Given the description of an element on the screen output the (x, y) to click on. 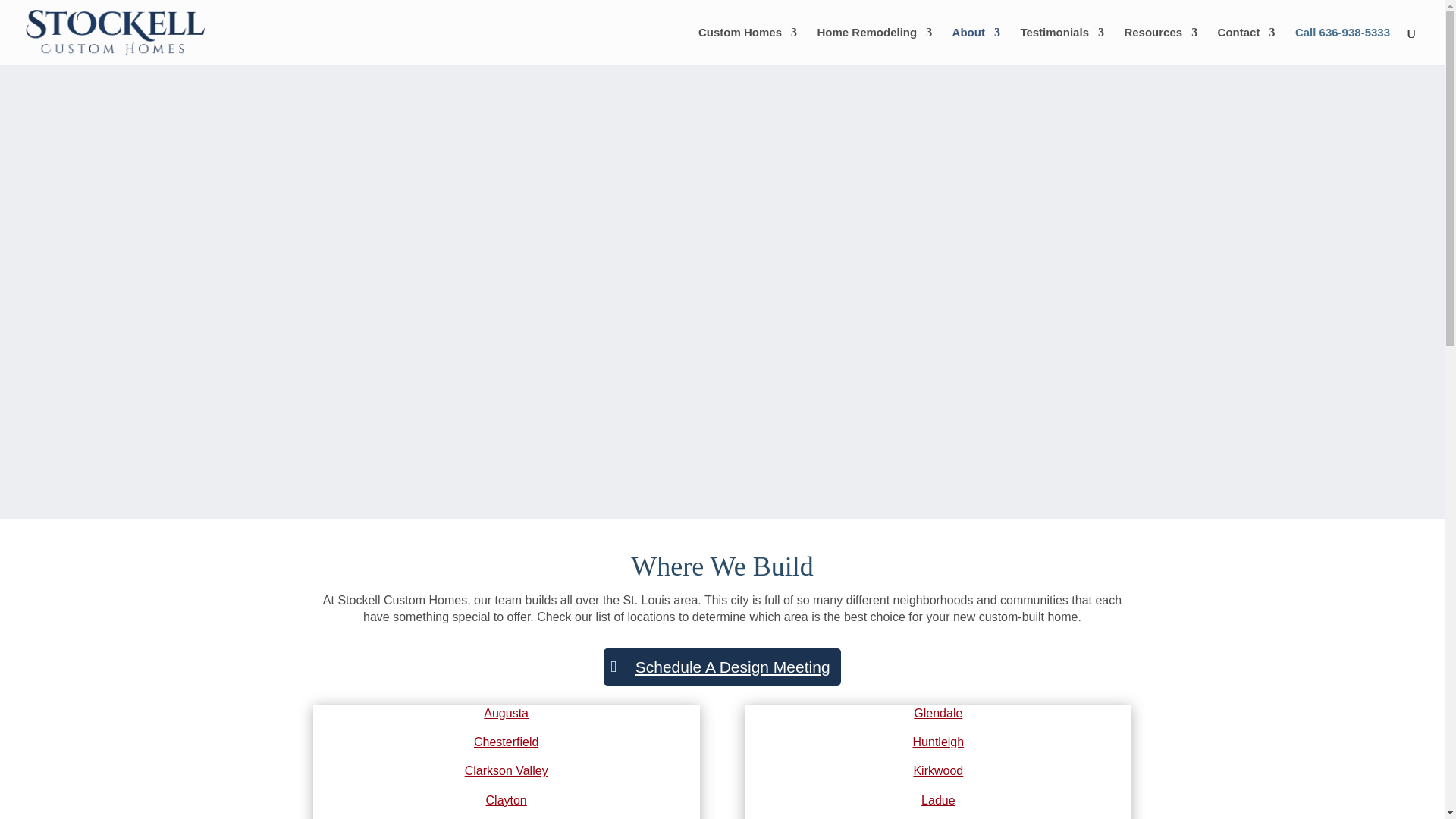
Contact (1246, 46)
Testimonials (1061, 46)
About (976, 46)
Clayton (506, 799)
Custom Homes (747, 46)
Augusta (505, 712)
Resources (1160, 46)
Chesterfield (506, 741)
Home Remodeling (873, 46)
Clarkson Valley (506, 770)
